Given the description of an element on the screen output the (x, y) to click on. 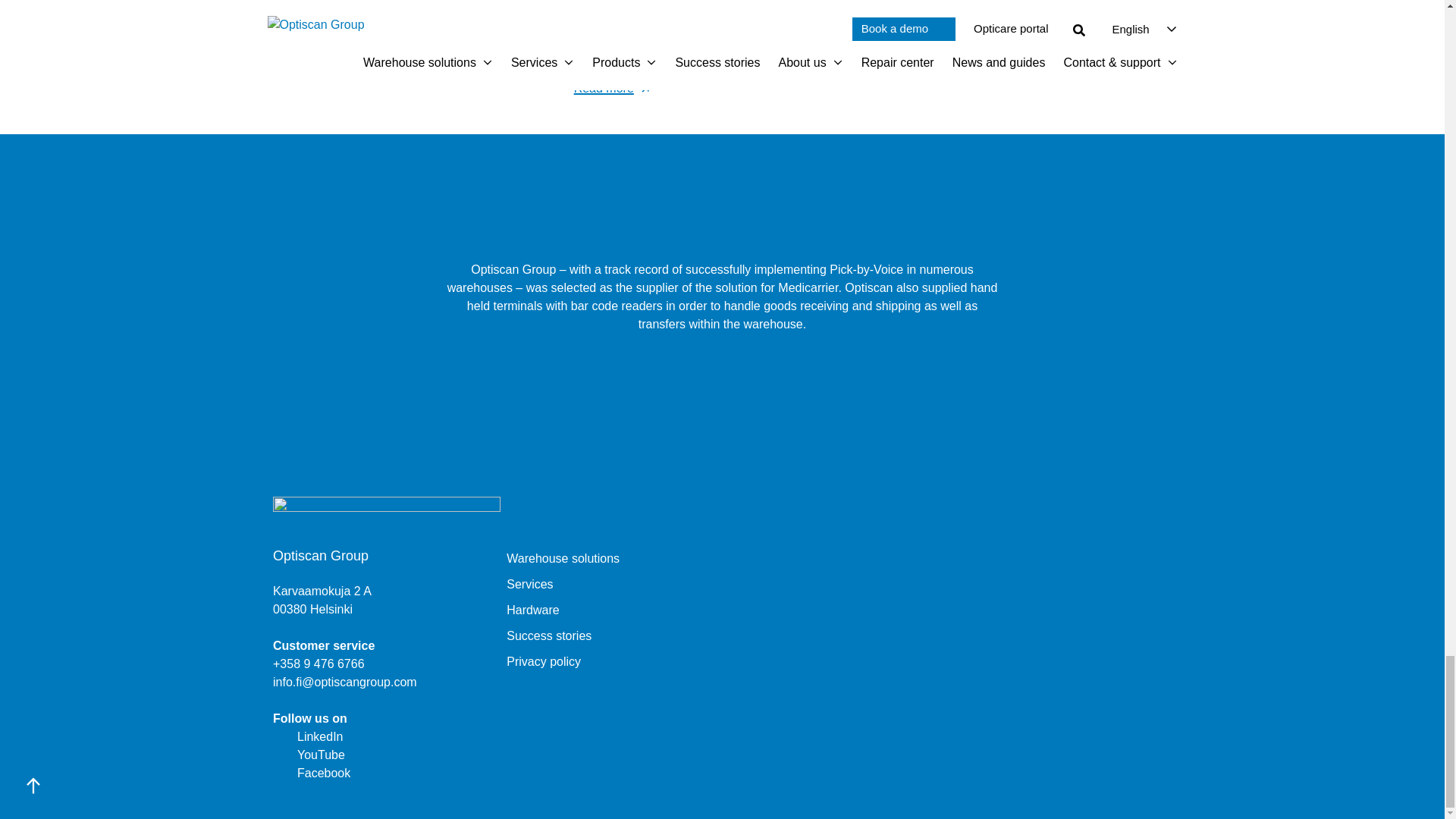
Read more (410, 52)
Read more (717, 88)
Read more (1024, 15)
